Given the description of an element on the screen output the (x, y) to click on. 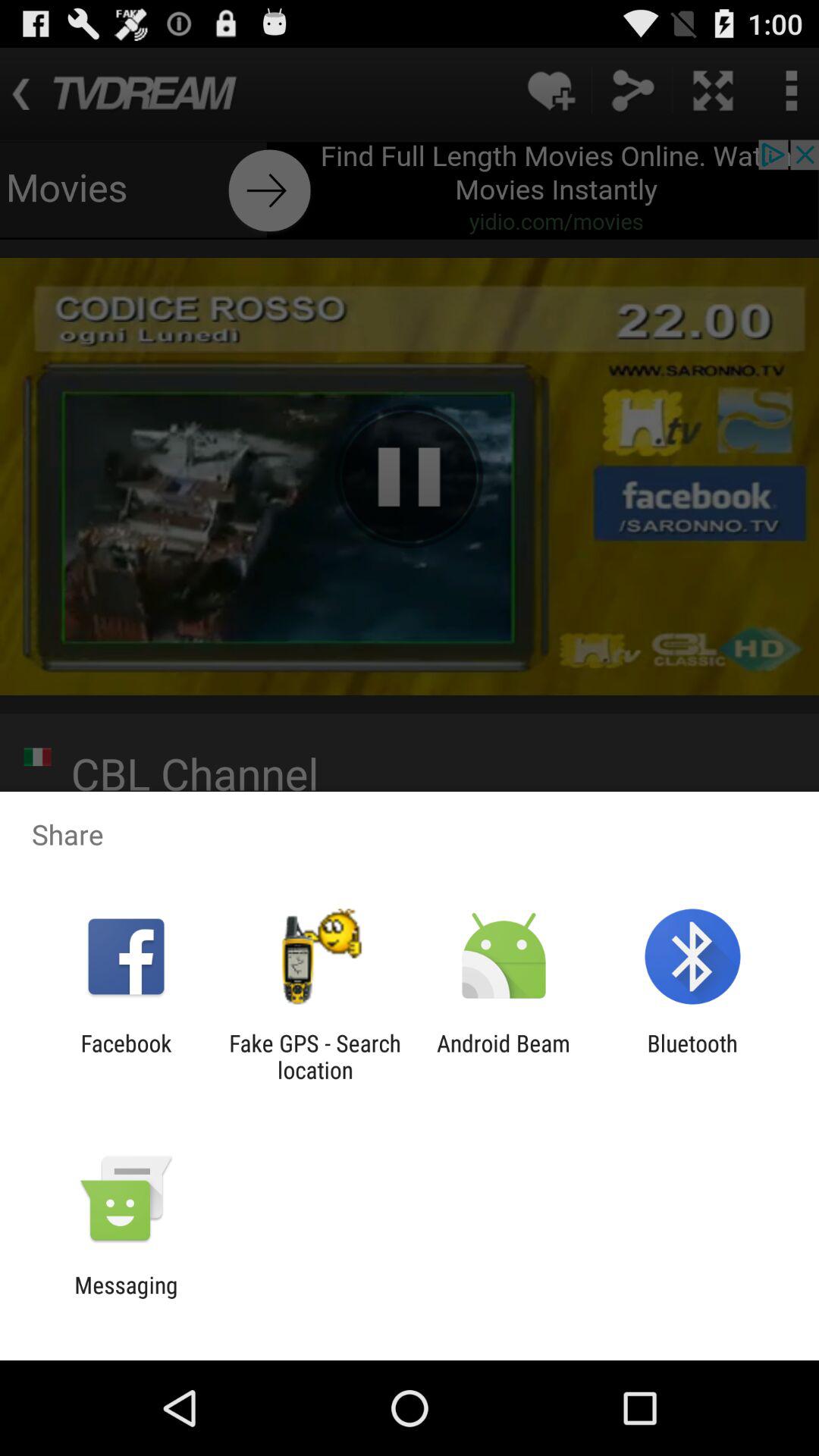
tap the icon to the left of bluetooth icon (503, 1056)
